Given the description of an element on the screen output the (x, y) to click on. 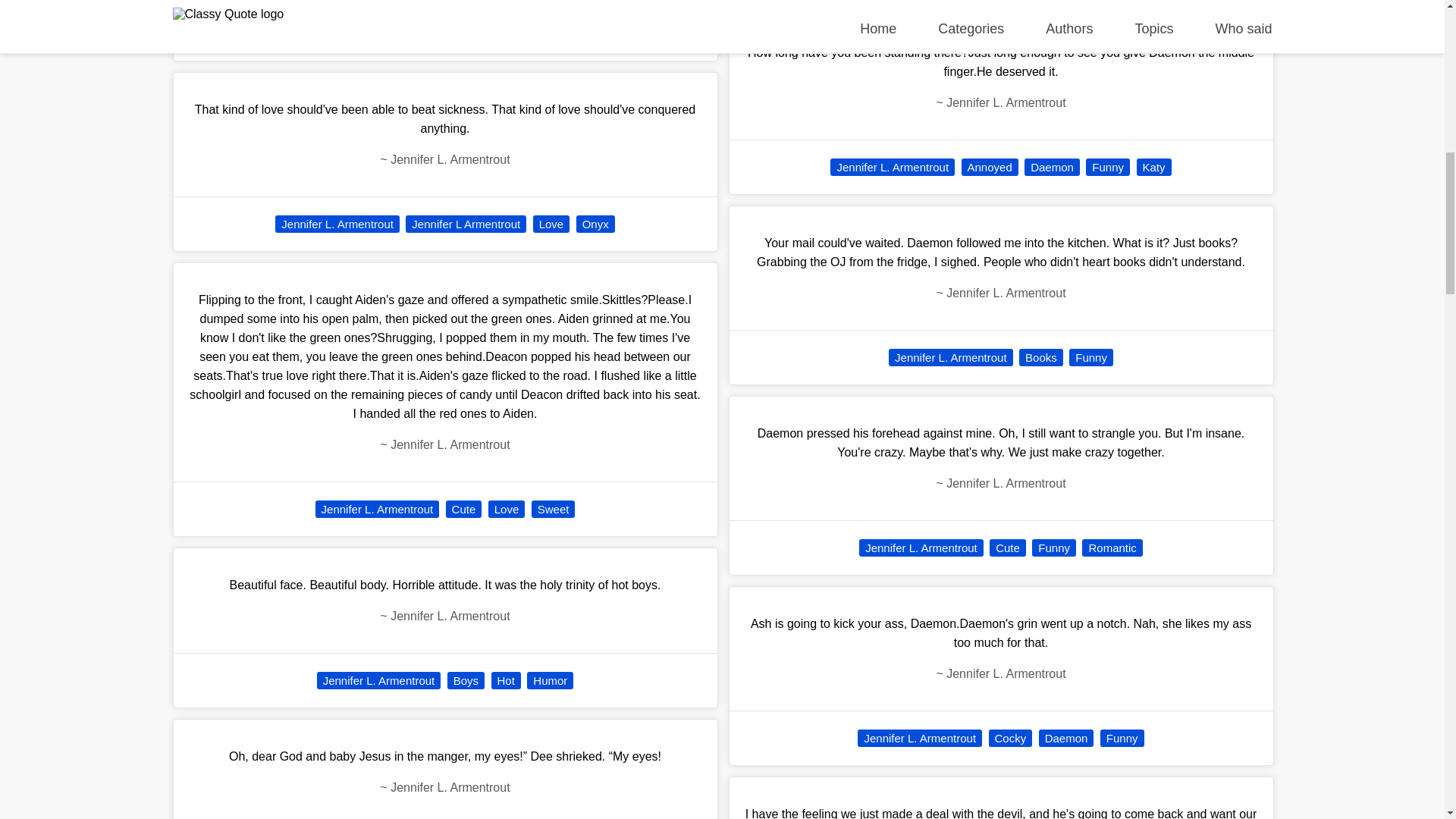
Jennifer L Armentrout (465, 223)
Jennifer L. Armentrout (379, 680)
Boys (465, 680)
Hot (506, 680)
Onyx (595, 223)
Humor (550, 680)
Love (506, 508)
Jennifer L. Armentrout (423, 33)
Love (551, 223)
Jennifer L. Armentrout (336, 223)
Jennifer L. Armentrout (377, 508)
Love (510, 33)
Sweet (553, 508)
Cute (463, 508)
